Given the description of an element on the screen output the (x, y) to click on. 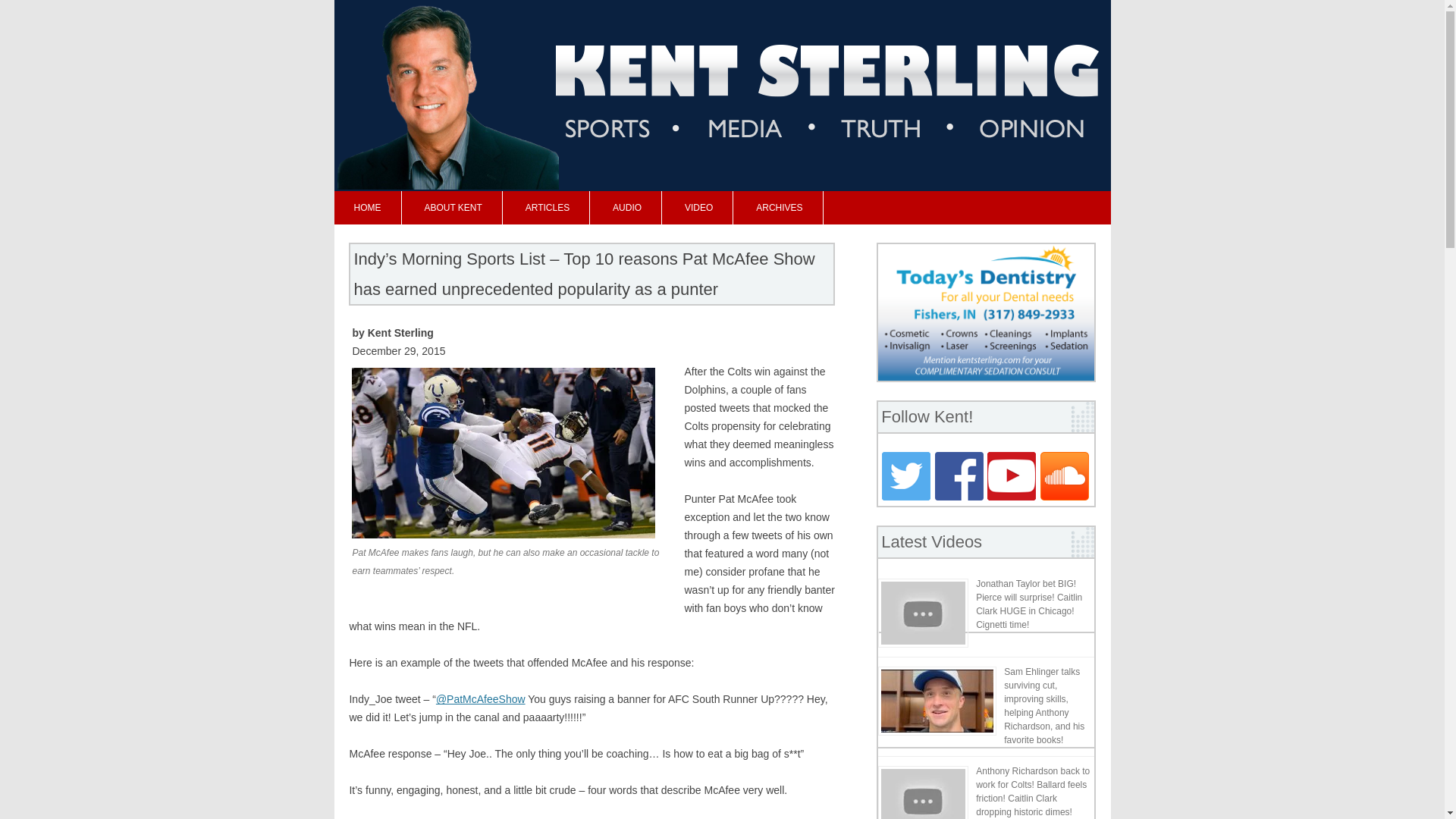
Kent Sterling on Facebook (959, 496)
Kent Sterling on Soundcloud (1065, 496)
ARTICLES (547, 207)
Kent Sterling on Youtube (1011, 496)
ARCHIVES (778, 207)
